Given the description of an element on the screen output the (x, y) to click on. 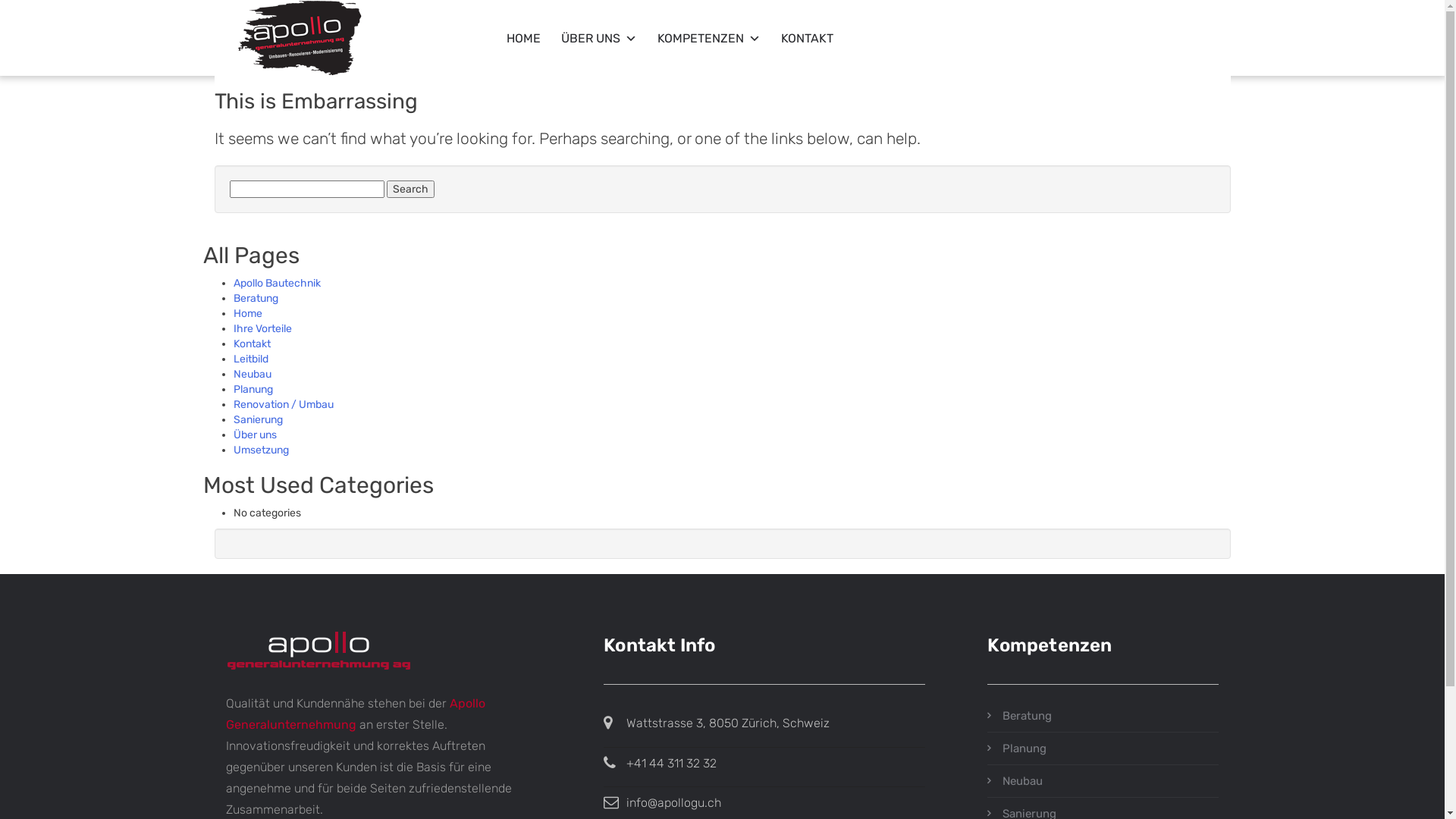
Sanierung Element type: text (257, 419)
KONTAKT Element type: text (796, 27)
Beratung Element type: text (255, 297)
KOMPETENZEN Element type: text (698, 27)
Renovation / Umbau Element type: text (283, 404)
Search Element type: text (410, 188)
Leitbild Element type: text (250, 358)
info@apollogu.ch Element type: text (673, 802)
Kontakt Element type: text (251, 343)
Beratung Element type: text (1102, 715)
Umsetzung Element type: text (260, 449)
HOME Element type: text (513, 27)
Neubau Element type: text (252, 373)
Neubau Element type: text (1102, 781)
Home Element type: text (247, 313)
Ihre Vorteile Element type: text (262, 328)
Planung Element type: text (253, 388)
Apollo Bautechnik Element type: text (276, 282)
Planung Element type: text (1102, 748)
